Given the description of an element on the screen output the (x, y) to click on. 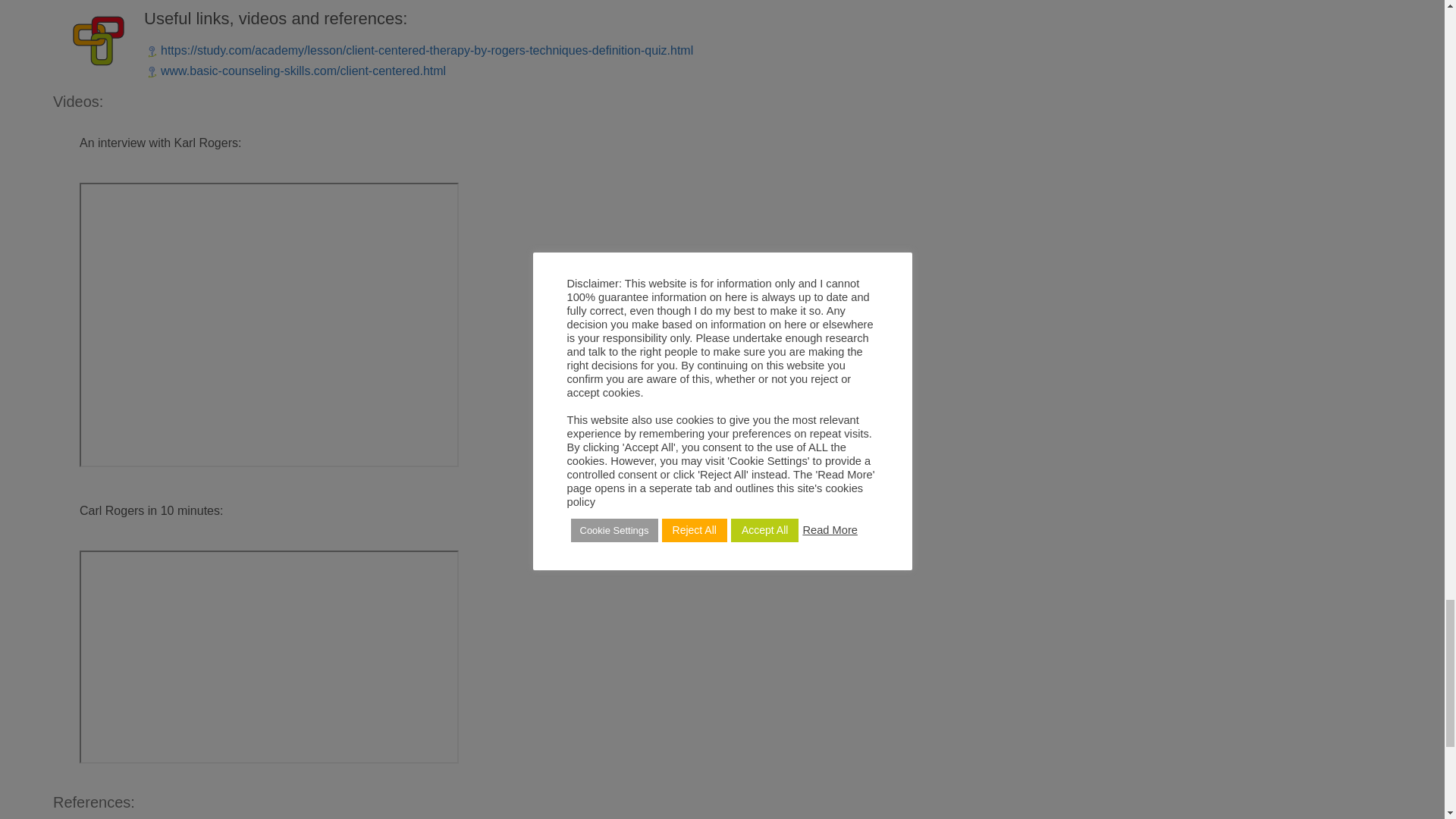
Rogers In Ten Minutes (269, 656)
Carl Rogers (269, 324)
